Given the description of an element on the screen output the (x, y) to click on. 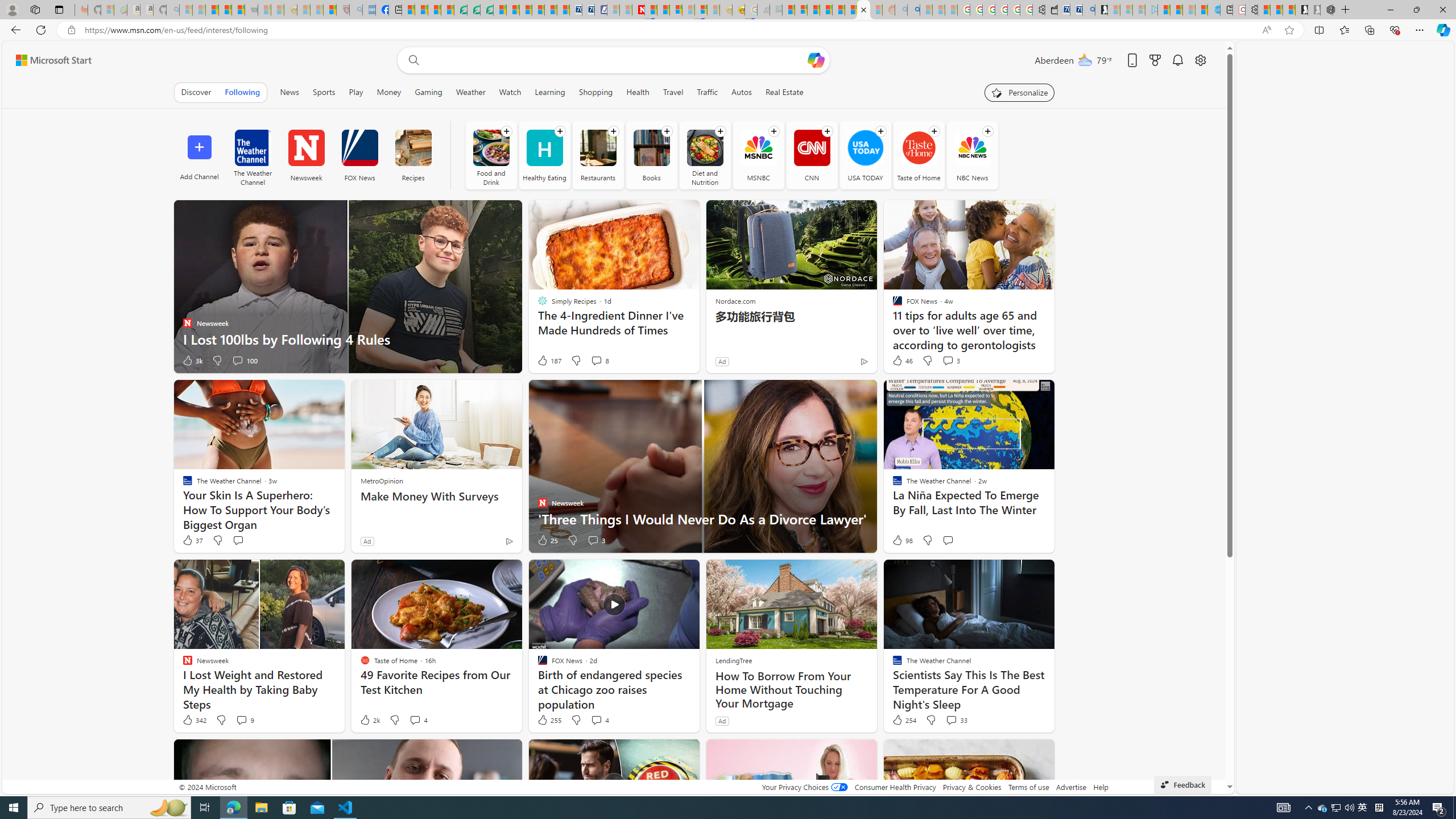
Health (637, 92)
Diet and Nutrition (704, 155)
LendingTree (733, 660)
Health (637, 92)
Recipes (413, 155)
Real Estate (784, 92)
